Given the description of an element on the screen output the (x, y) to click on. 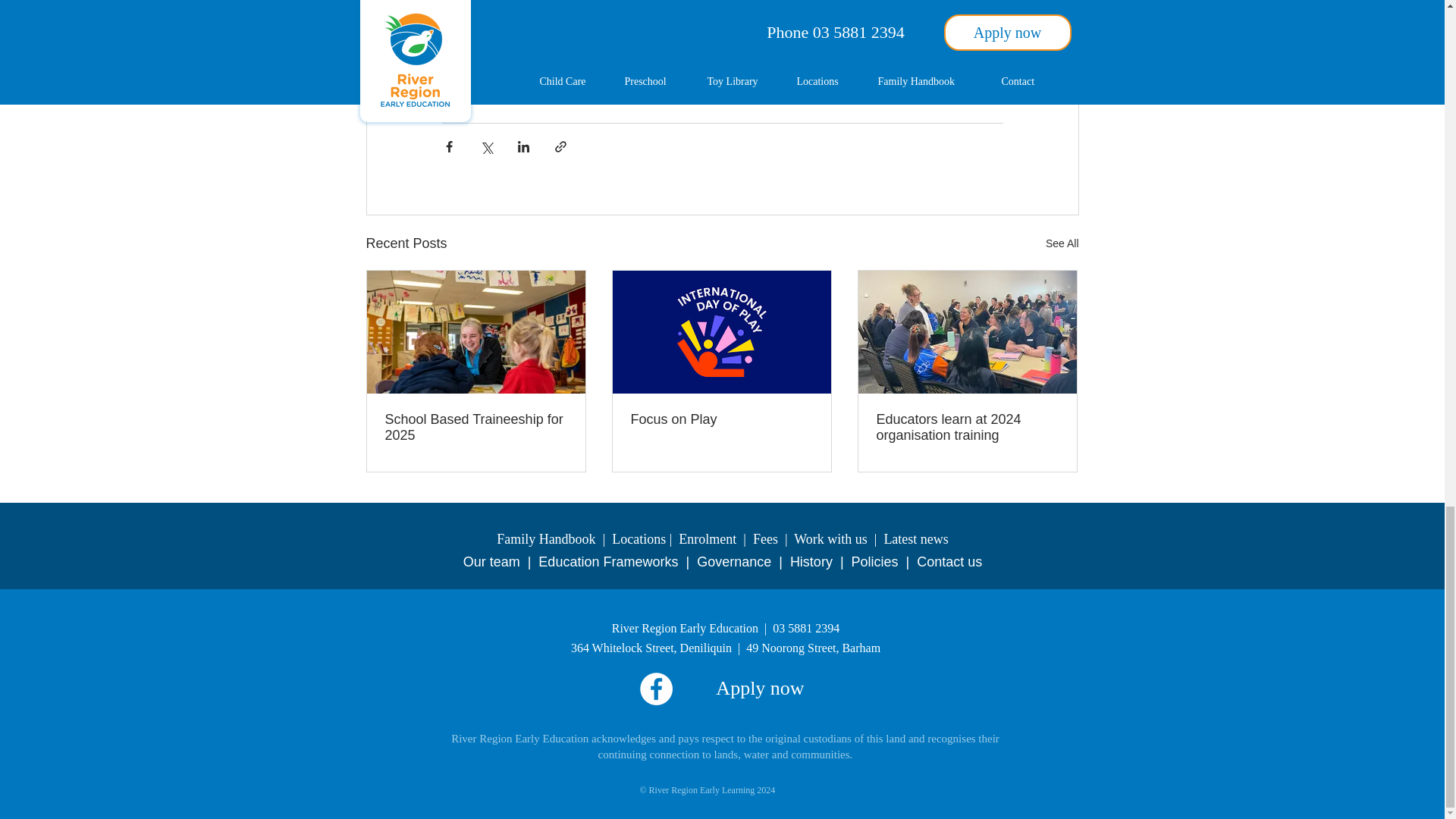
Contact us (949, 561)
Our team (491, 561)
Family Handbook (545, 539)
Educators learn at 2024 organisation training (967, 427)
Education Frameworks (608, 561)
Work with us (830, 539)
Enrolment (707, 539)
School Based Traineeship for 2025 (476, 427)
Focus on Play (721, 419)
See All (1061, 243)
Locations (638, 539)
Governance (734, 561)
History (811, 561)
Latest news (915, 539)
Fees (764, 539)
